Given the description of an element on the screen output the (x, y) to click on. 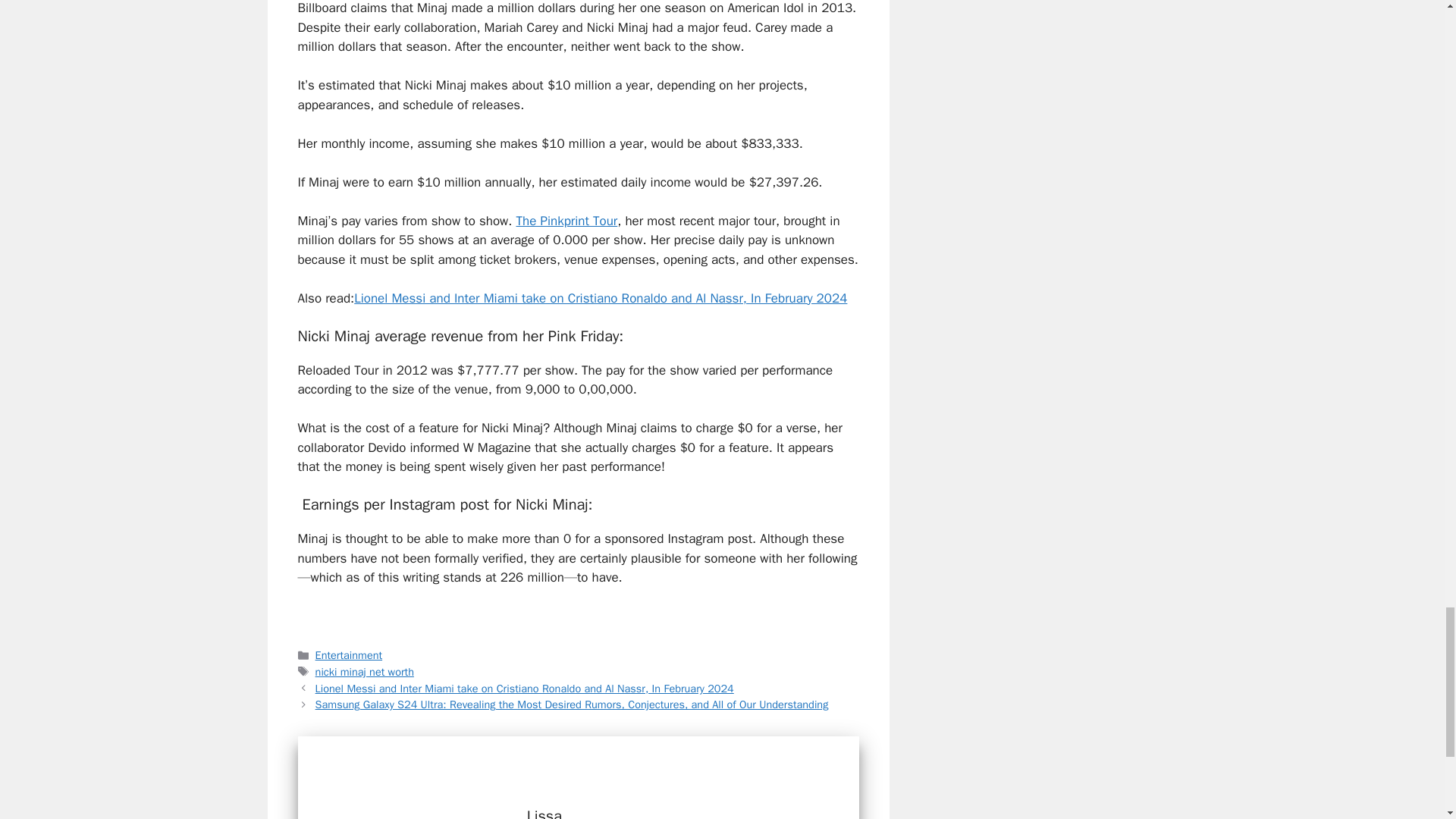
Entertainment (348, 654)
nicki minaj net worth (364, 671)
The Pinkprint Tour (566, 220)
